Given the description of an element on the screen output the (x, y) to click on. 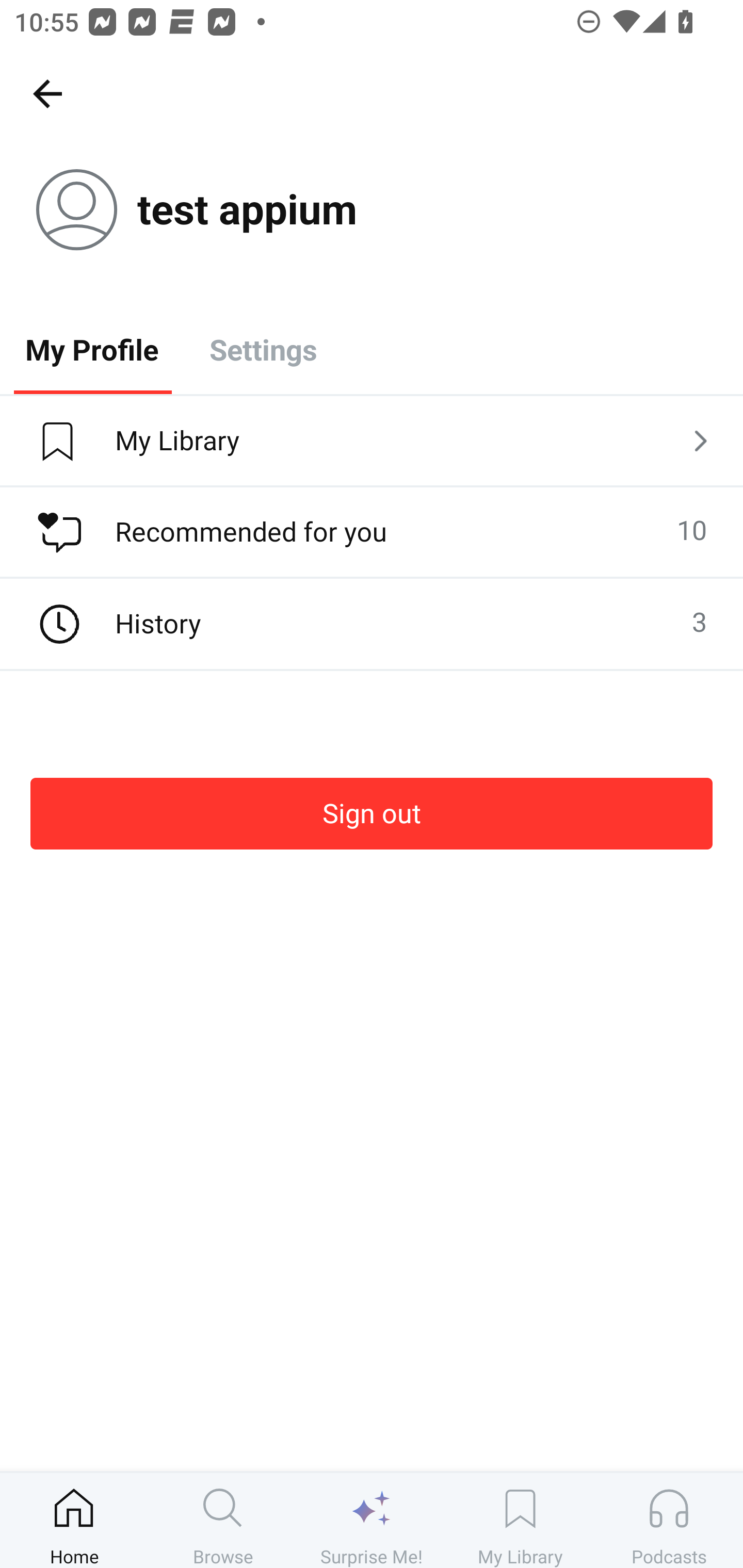
Home, back (47, 92)
My Profile (92, 348)
Settings (263, 348)
My Library (371, 441)
Recommended for you 10 (371, 532)
History 3 (371, 623)
Sign out (371, 813)
Home (74, 1520)
Browse (222, 1520)
Surprise Me! (371, 1520)
My Library (519, 1520)
Podcasts (668, 1520)
